Given the description of an element on the screen output the (x, y) to click on. 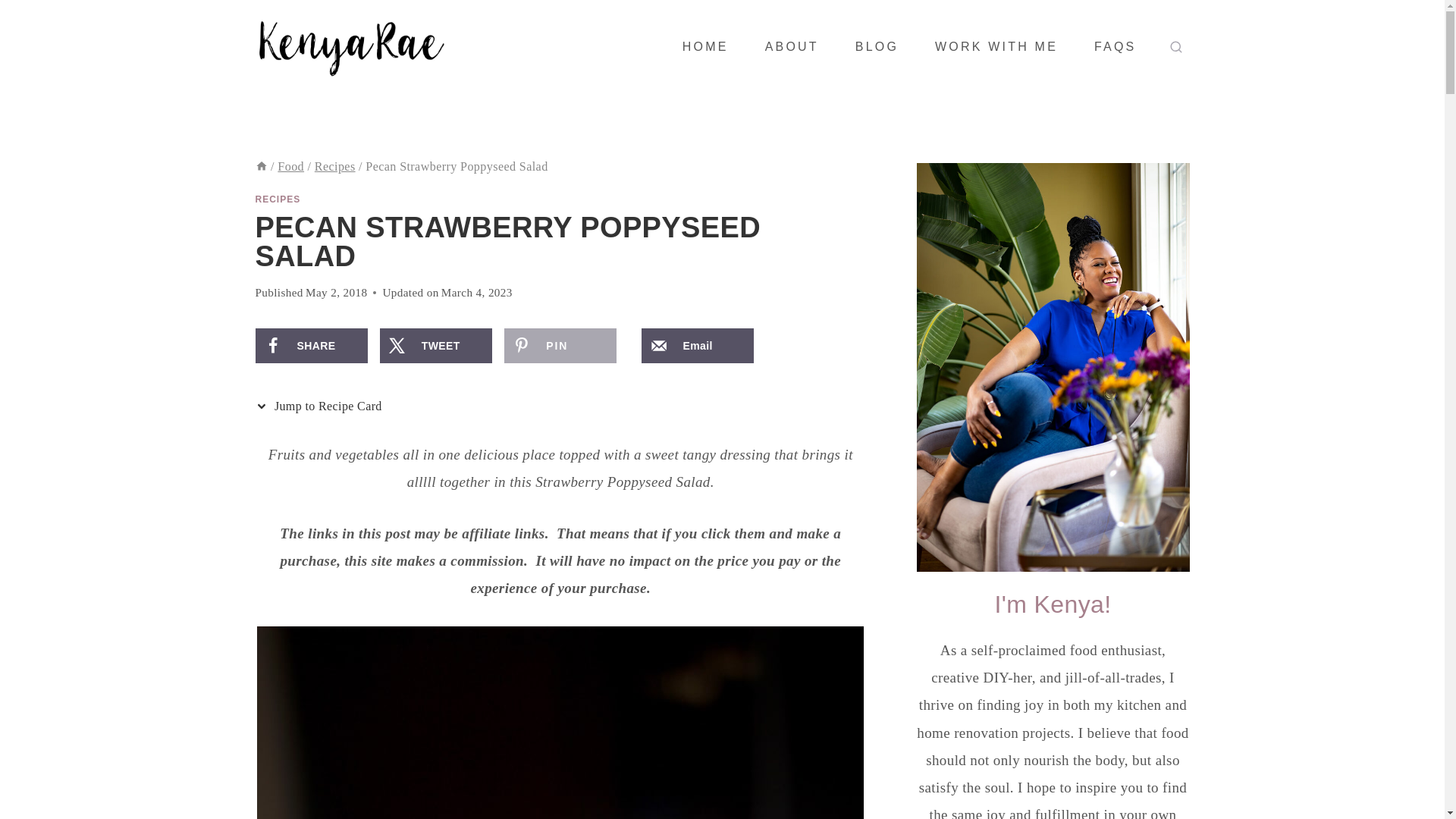
TWEET (436, 345)
RECIPES (276, 199)
Jump to Recipe Card (321, 406)
Save to Pinterest (559, 345)
BLOG (877, 46)
PIN (559, 345)
Share on X (436, 345)
WORK WITH ME (996, 46)
ABOUT (791, 46)
Home (260, 165)
Send over email (698, 345)
Email (698, 345)
Recipes (334, 165)
SHARE (310, 345)
FAQS (1114, 46)
